Given the description of an element on the screen output the (x, y) to click on. 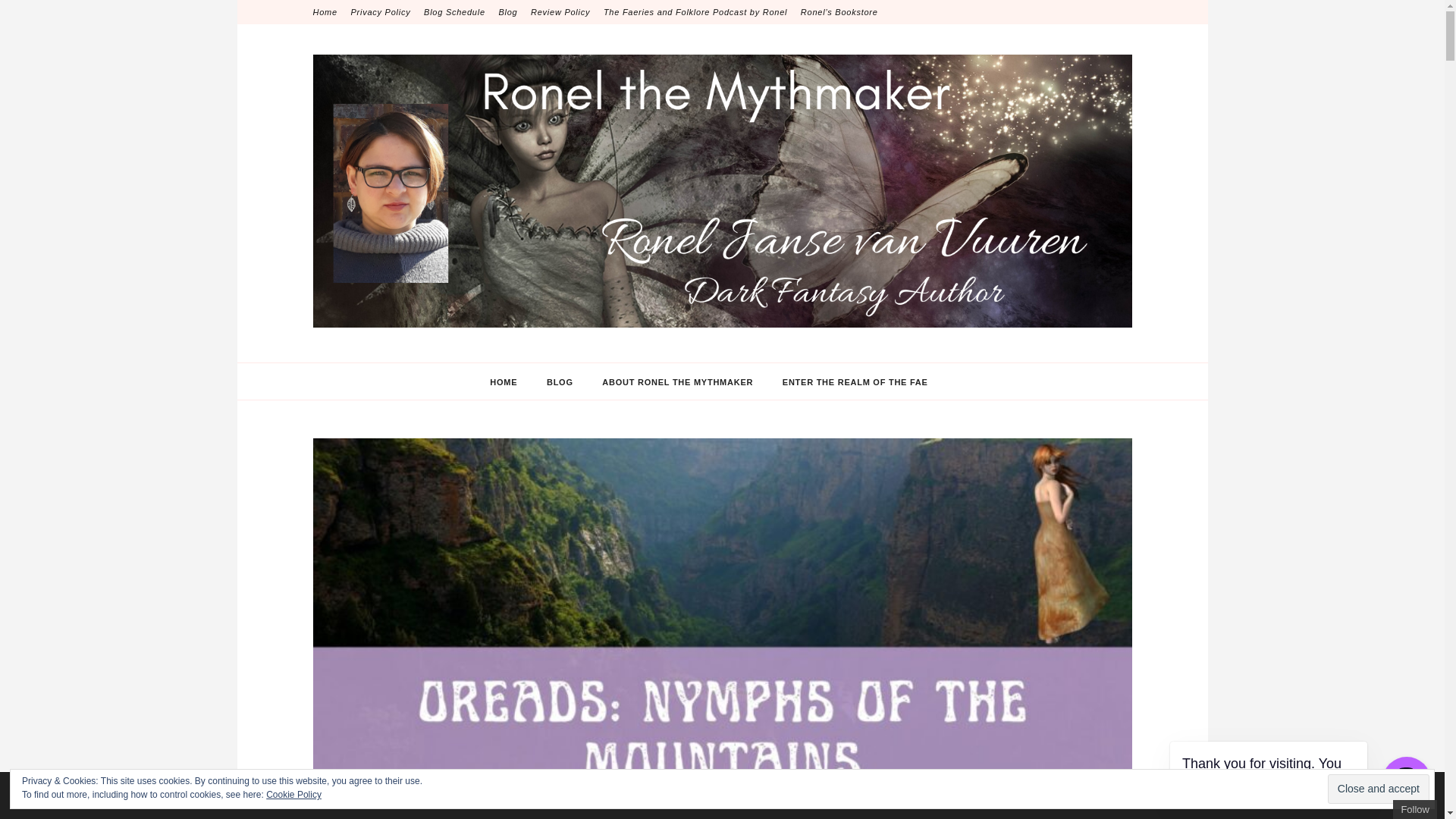
ABOUT RONEL THE MYTHMAKER (677, 382)
Close and accept (1378, 788)
ENTER THE REALM OF THE FAE (855, 382)
Privacy Policy (380, 12)
The Faeries and Folklore Podcast by Ronel (695, 12)
Blog Schedule (453, 12)
Review Policy (560, 12)
Home (324, 12)
